Given the description of an element on the screen output the (x, y) to click on. 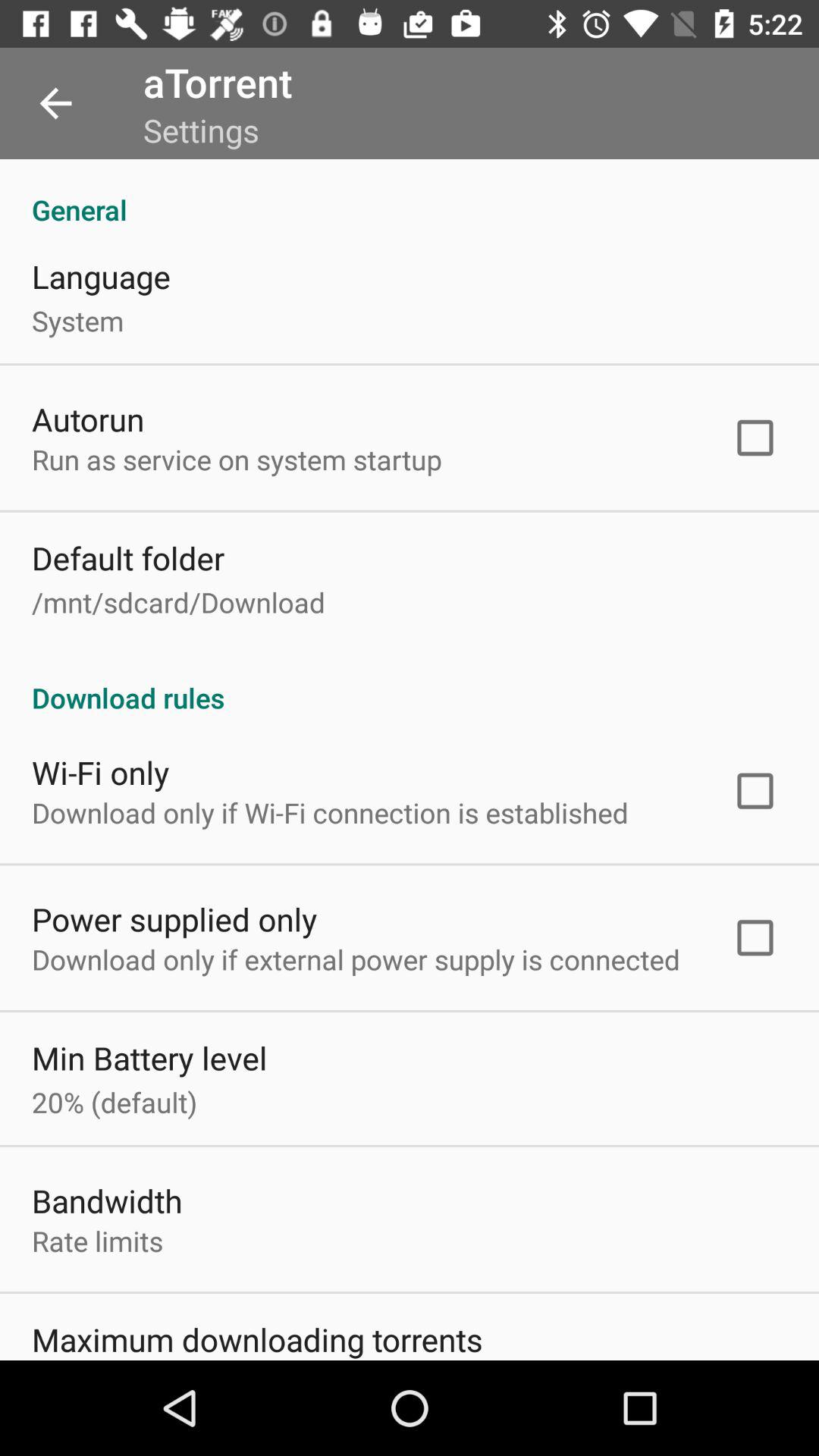
press item above the general item (55, 103)
